Given the description of an element on the screen output the (x, y) to click on. 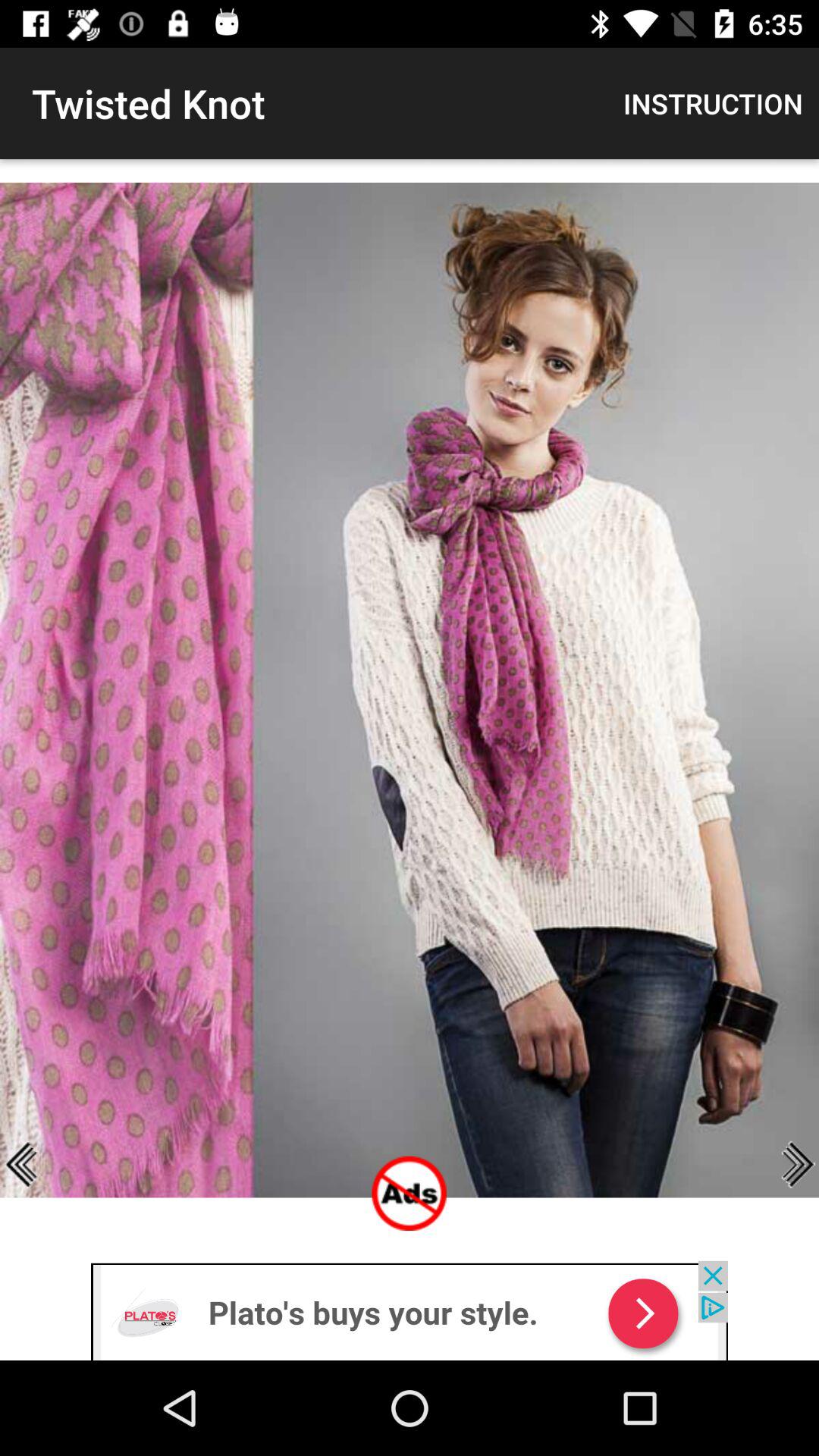
tap the instruction at the top right corner (713, 103)
